Given the description of an element on the screen output the (x, y) to click on. 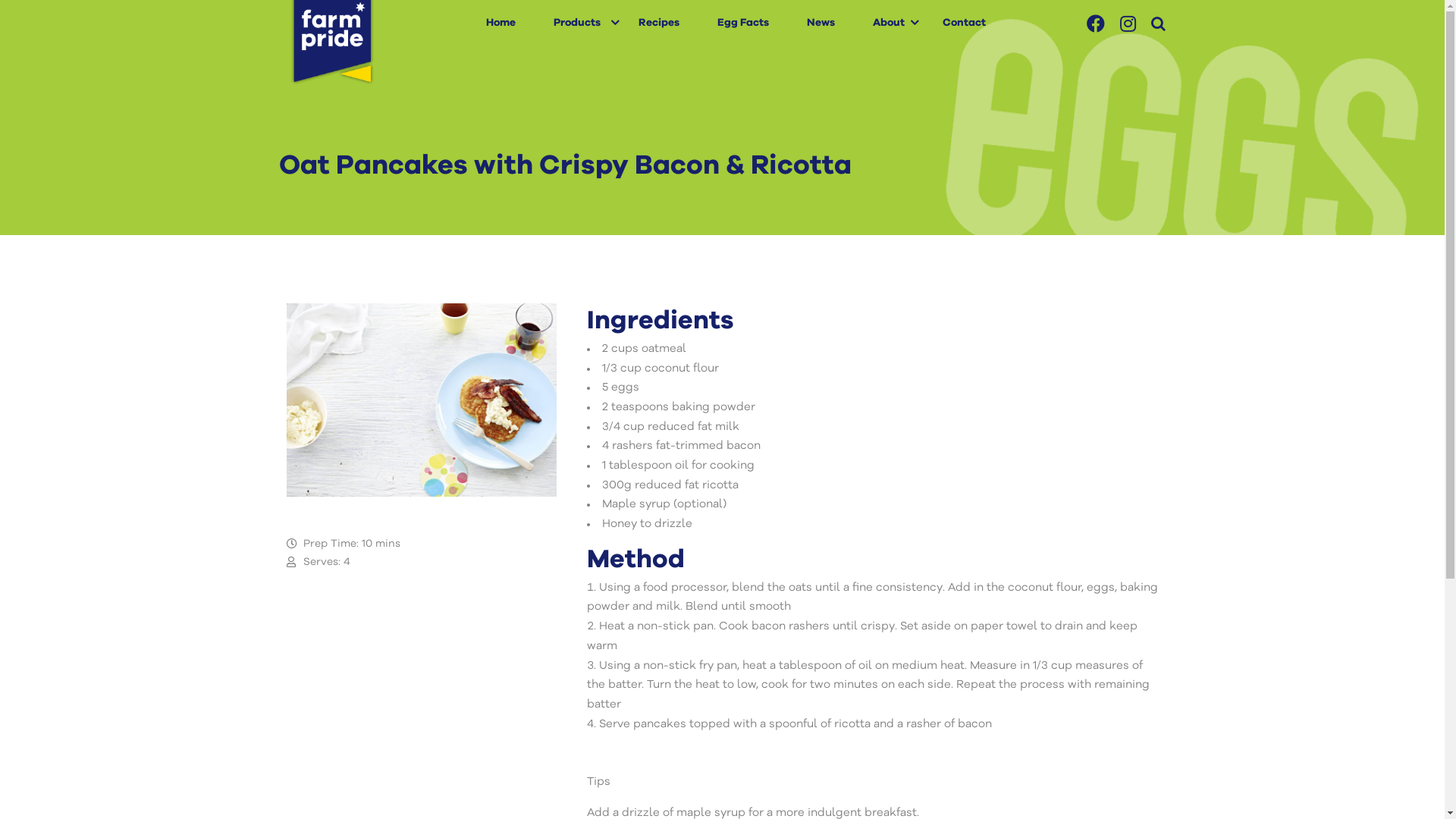
Recipes Element type: text (658, 22)
Home Element type: text (500, 22)
About Element type: text (888, 22)
Products Element type: text (576, 22)
Egg Facts Element type: text (742, 22)
Contact Element type: text (963, 22)
News Element type: text (820, 22)
